Given the description of an element on the screen output the (x, y) to click on. 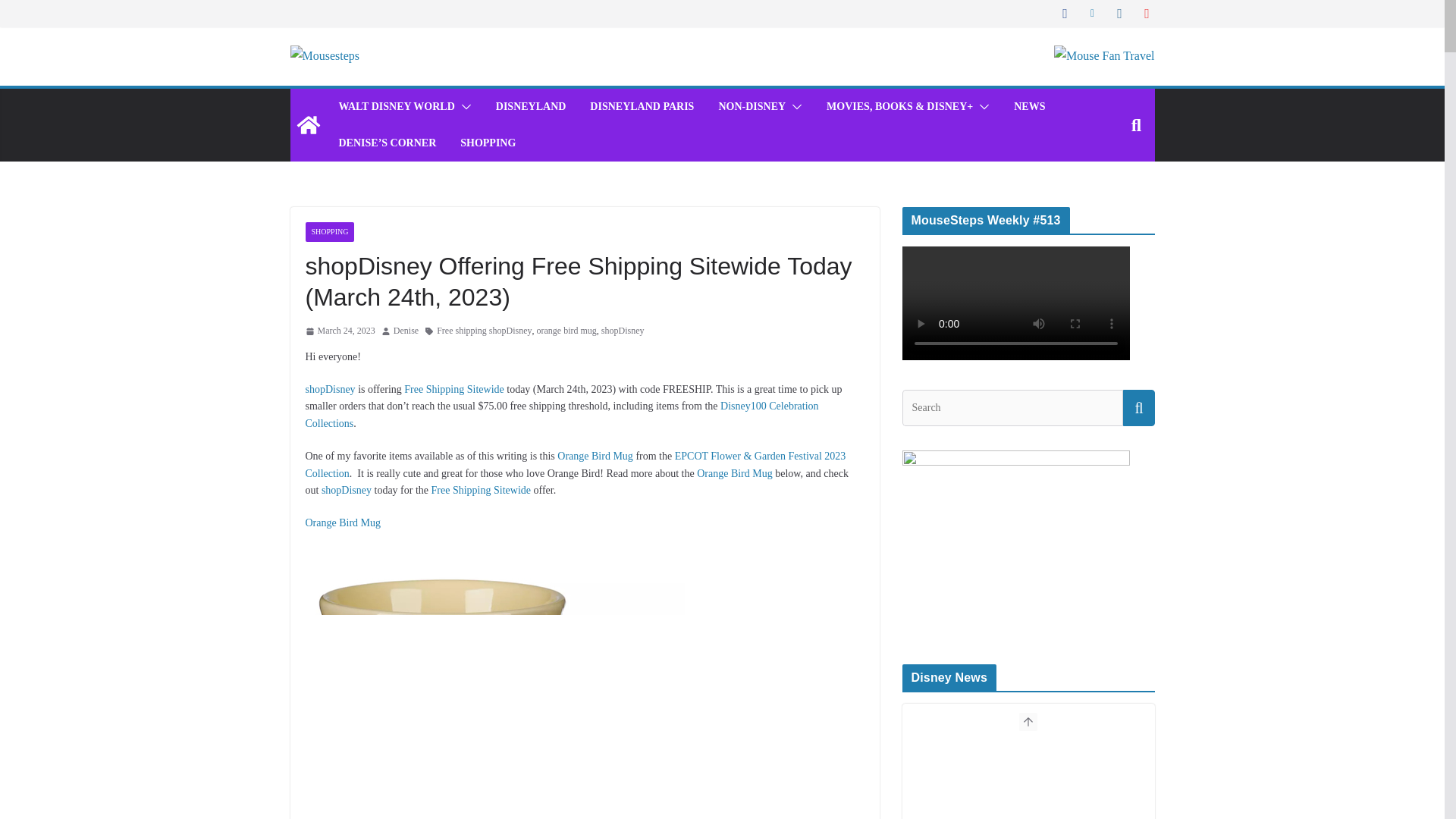
Mousesteps (307, 125)
Denise (406, 330)
WALT DISNEY WORLD (395, 106)
5:09 am (339, 330)
